Given the description of an element on the screen output the (x, y) to click on. 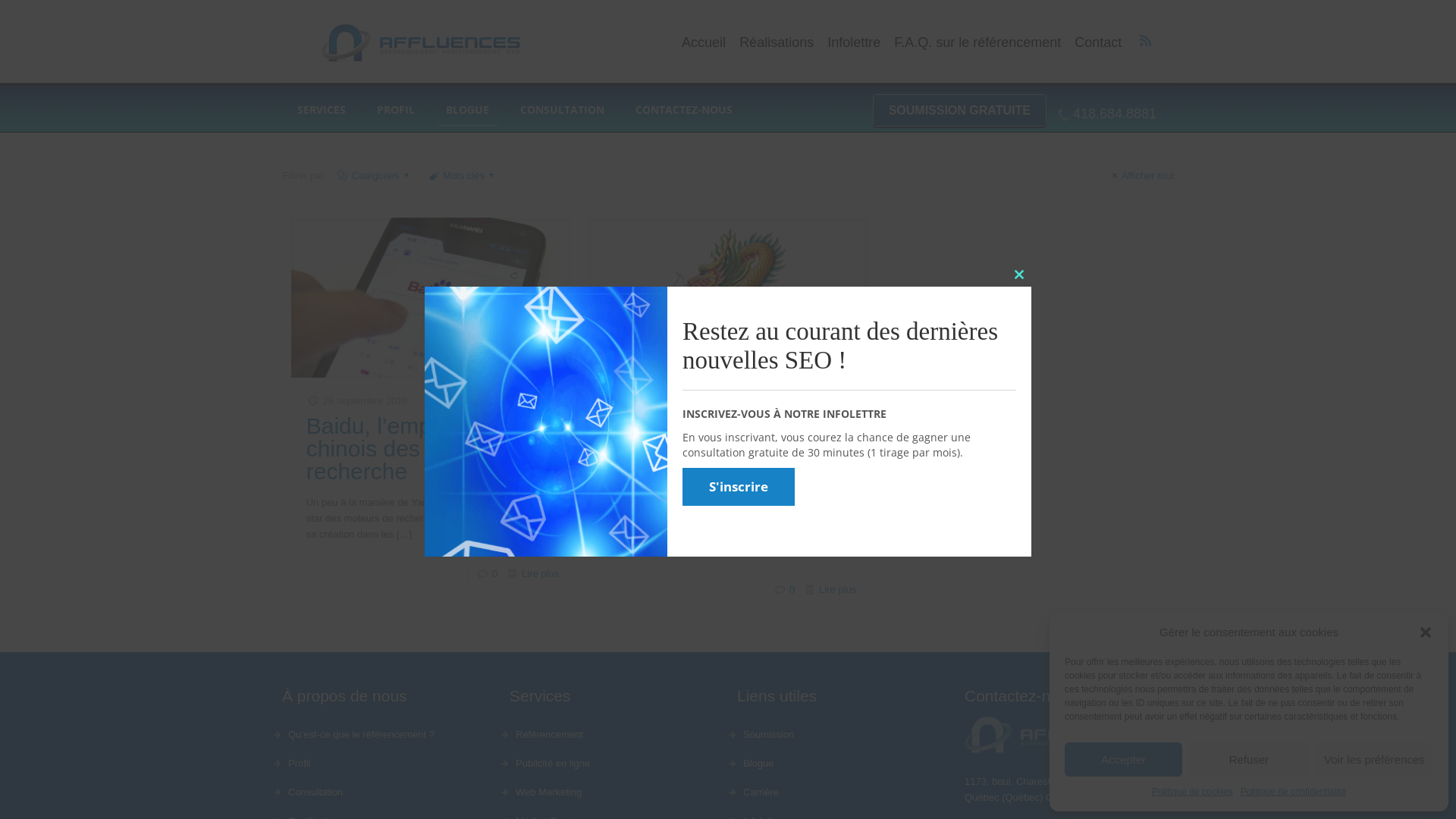
SOUMISSION GRATUITE Element type: text (959, 110)
Soumission Element type: text (841, 734)
CONSULTATION Element type: text (562, 109)
SERVICES Element type: text (321, 109)
Afficher tout Element type: text (1140, 175)
Accueil Element type: text (703, 42)
BLOGUE Element type: text (467, 109)
CONTACTEZ-NOUS Element type: text (683, 109)
RSS Element type: hover (1144, 39)
S'inscrire Element type: text (738, 486)
Consultation Element type: text (386, 792)
Lire plus Element type: text (539, 573)
PROFIL Element type: text (395, 109)
418.684.8881 Element type: text (1108, 114)
0 Element type: text (494, 573)
Politique de cookies Element type: text (1192, 792)
Profil Element type: text (386, 763)
0 Element type: text (791, 589)
Lire plus Element type: text (837, 589)
Accepter Element type: text (1123, 759)
Affluences Element type: hover (418, 43)
Web Marketing Element type: text (614, 792)
Blogue Element type: text (841, 763)
Infolettre Element type: text (853, 42)
Close this module Element type: text (1019, 274)
Contact Element type: text (1097, 42)
Refuser Element type: text (1248, 759)
